Given the description of an element on the screen output the (x, y) to click on. 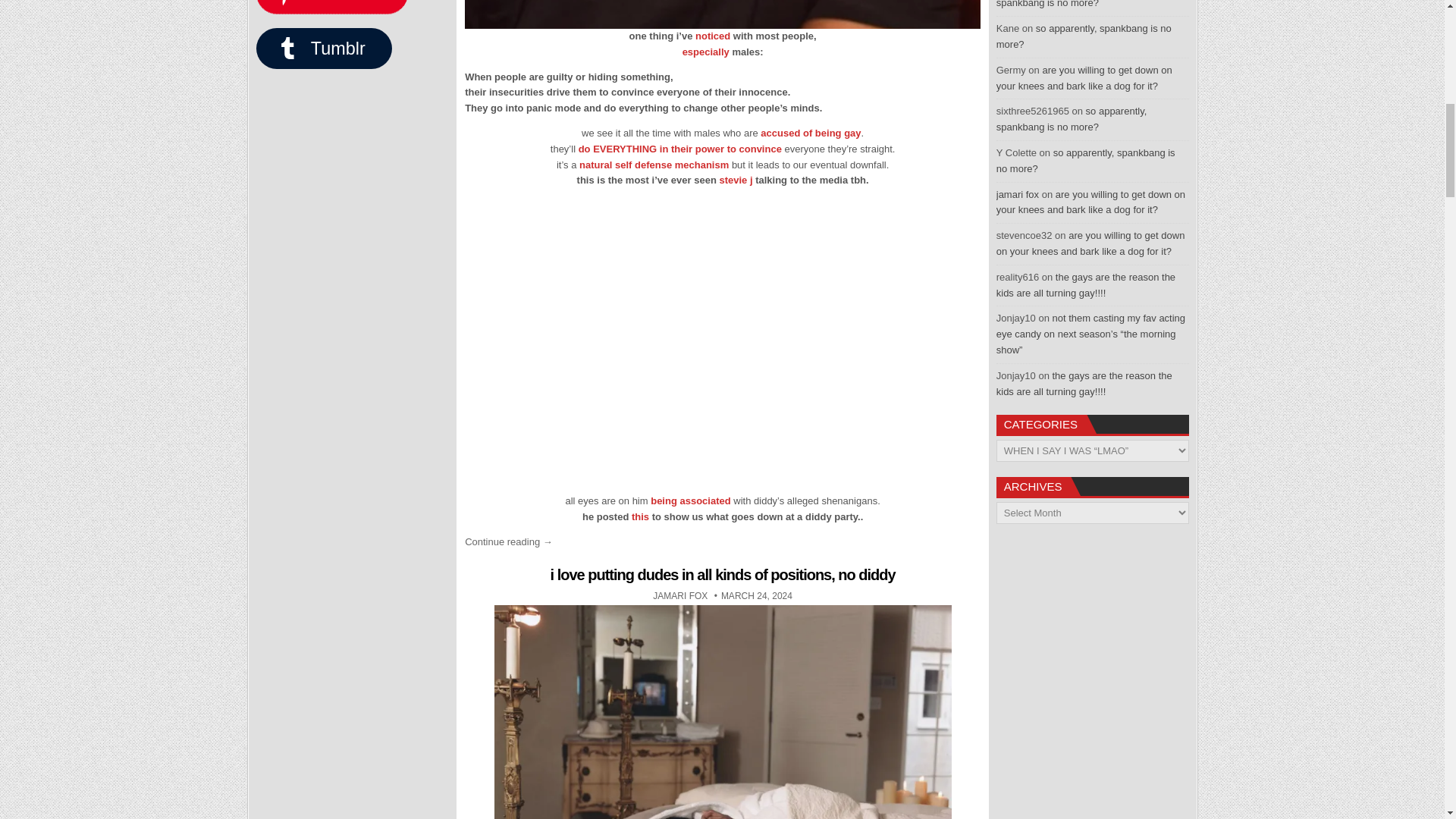
i love putting dudes in all kinds of positions, no diddy (722, 574)
